Given the description of an element on the screen output the (x, y) to click on. 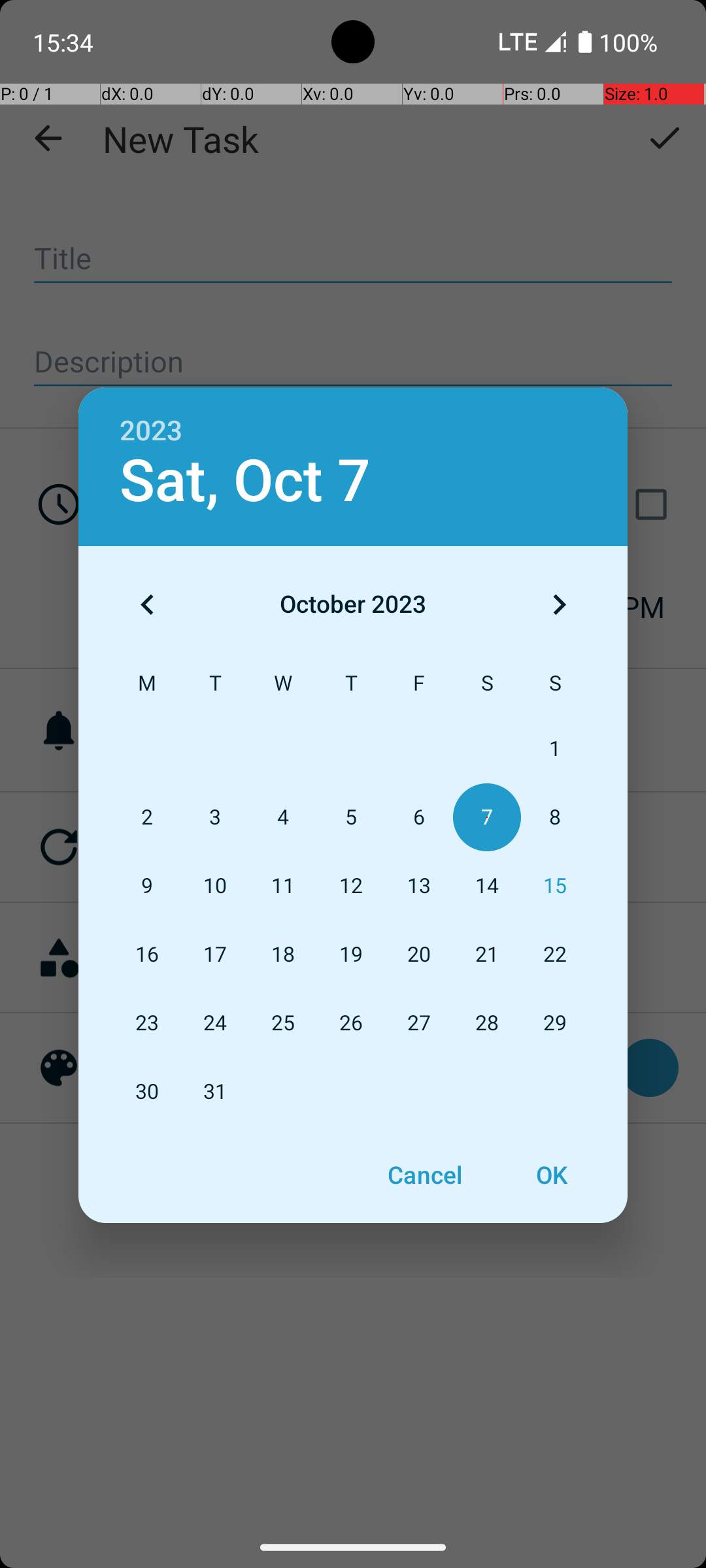
Sat, Oct 7 Element type: android.widget.TextView (244, 480)
